Given the description of an element on the screen output the (x, y) to click on. 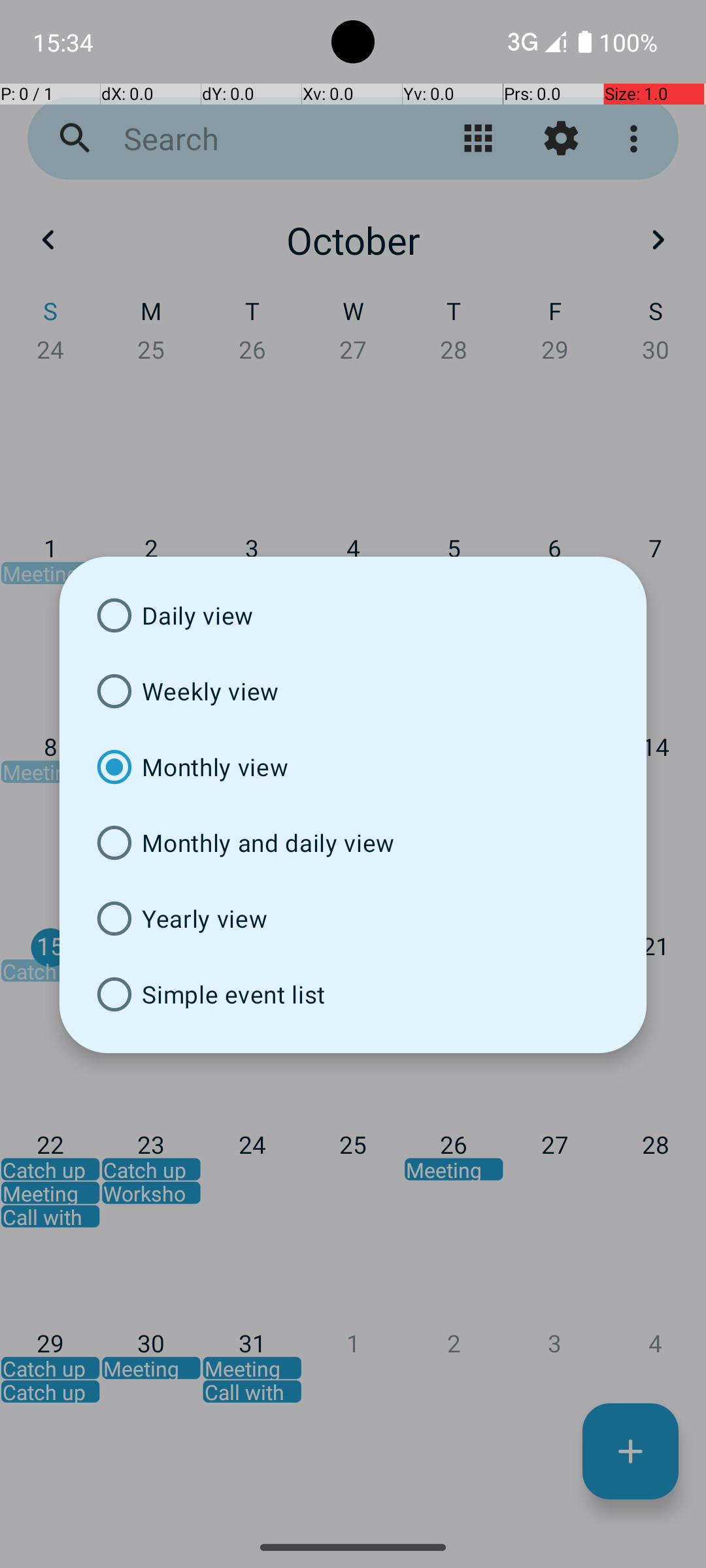
Daily view Element type: android.widget.RadioButton (352, 615)
Weekly view Element type: android.widget.RadioButton (352, 691)
Monthly view Element type: android.widget.RadioButton (352, 766)
Monthly and daily view Element type: android.widget.RadioButton (352, 842)
Yearly view Element type: android.widget.RadioButton (352, 918)
Simple event list Element type: android.widget.RadioButton (352, 994)
